Given the description of an element on the screen output the (x, y) to click on. 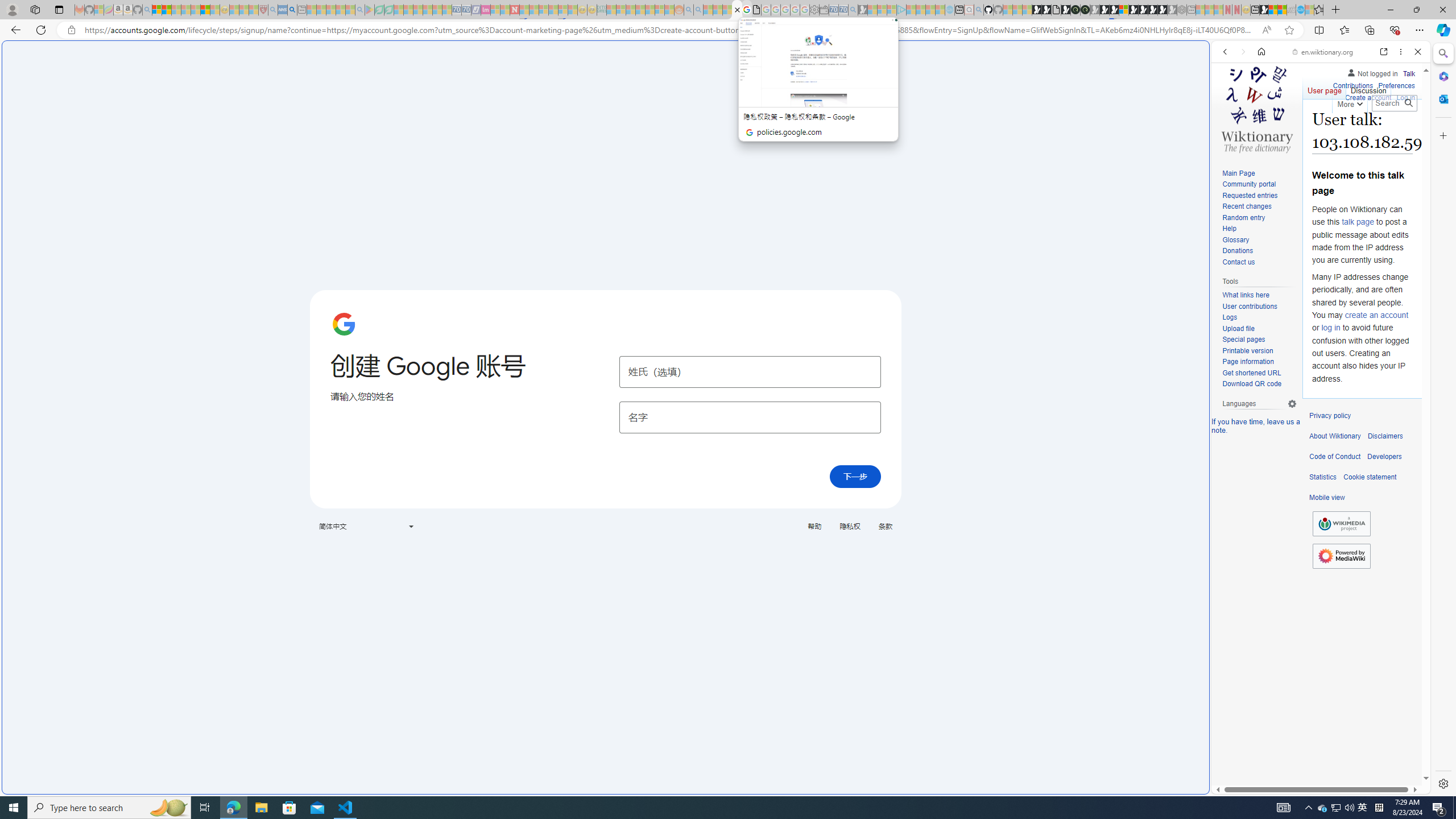
Play Zoo Boom in your browser | Games from Microsoft Start (1045, 9)
Log in (1405, 98)
User page (1324, 87)
Contributions (1352, 85)
